Given the description of an element on the screen output the (x, y) to click on. 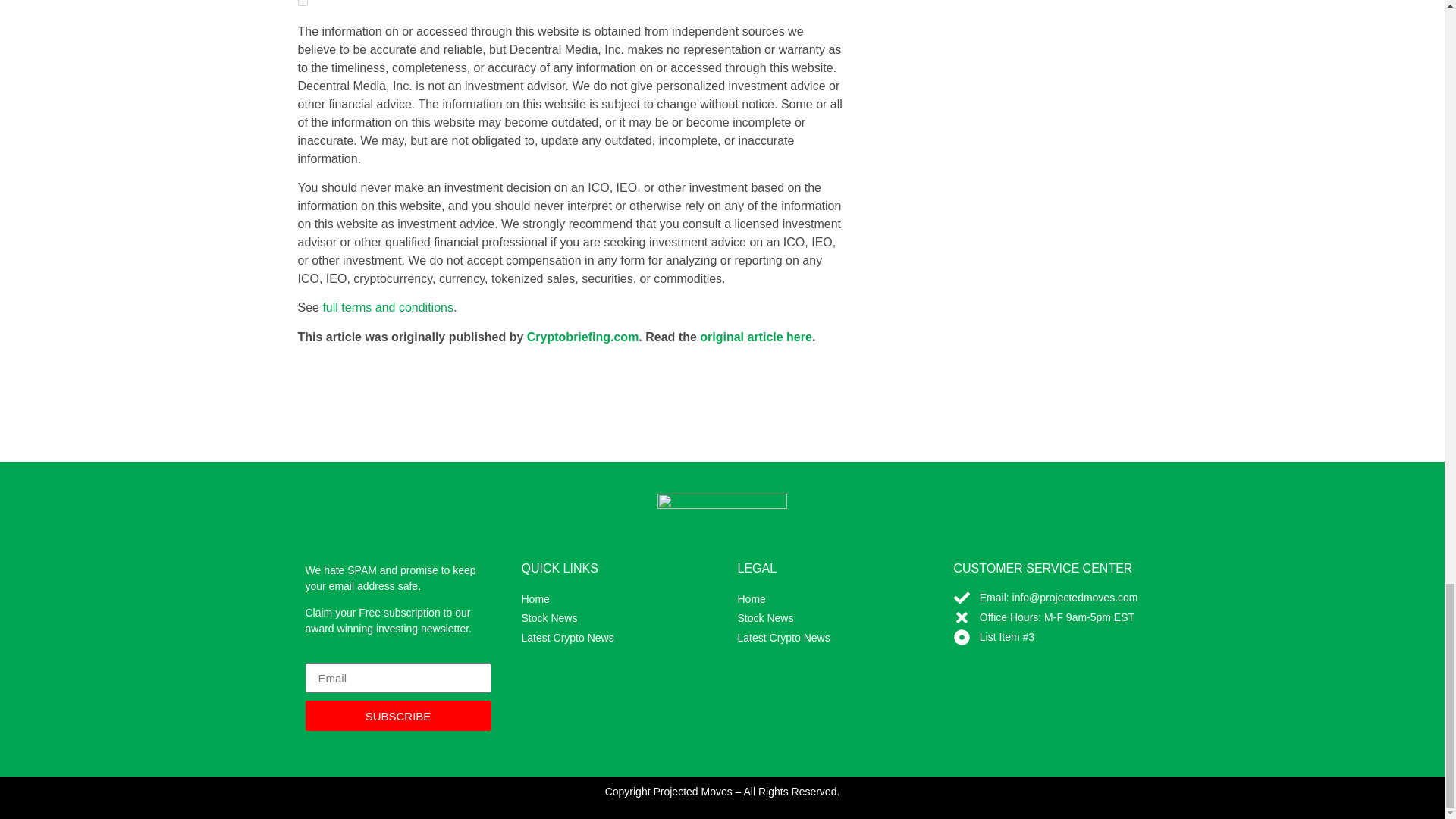
Home (606, 599)
Cryptobriefing.com (583, 336)
Stock News (606, 618)
Home (822, 599)
full terms and conditions (386, 307)
Latest Crypto News (606, 637)
SUBSCRIBE (397, 716)
Stock News (822, 618)
on (302, 2)
Latest Crypto News (822, 637)
